Given the description of an element on the screen output the (x, y) to click on. 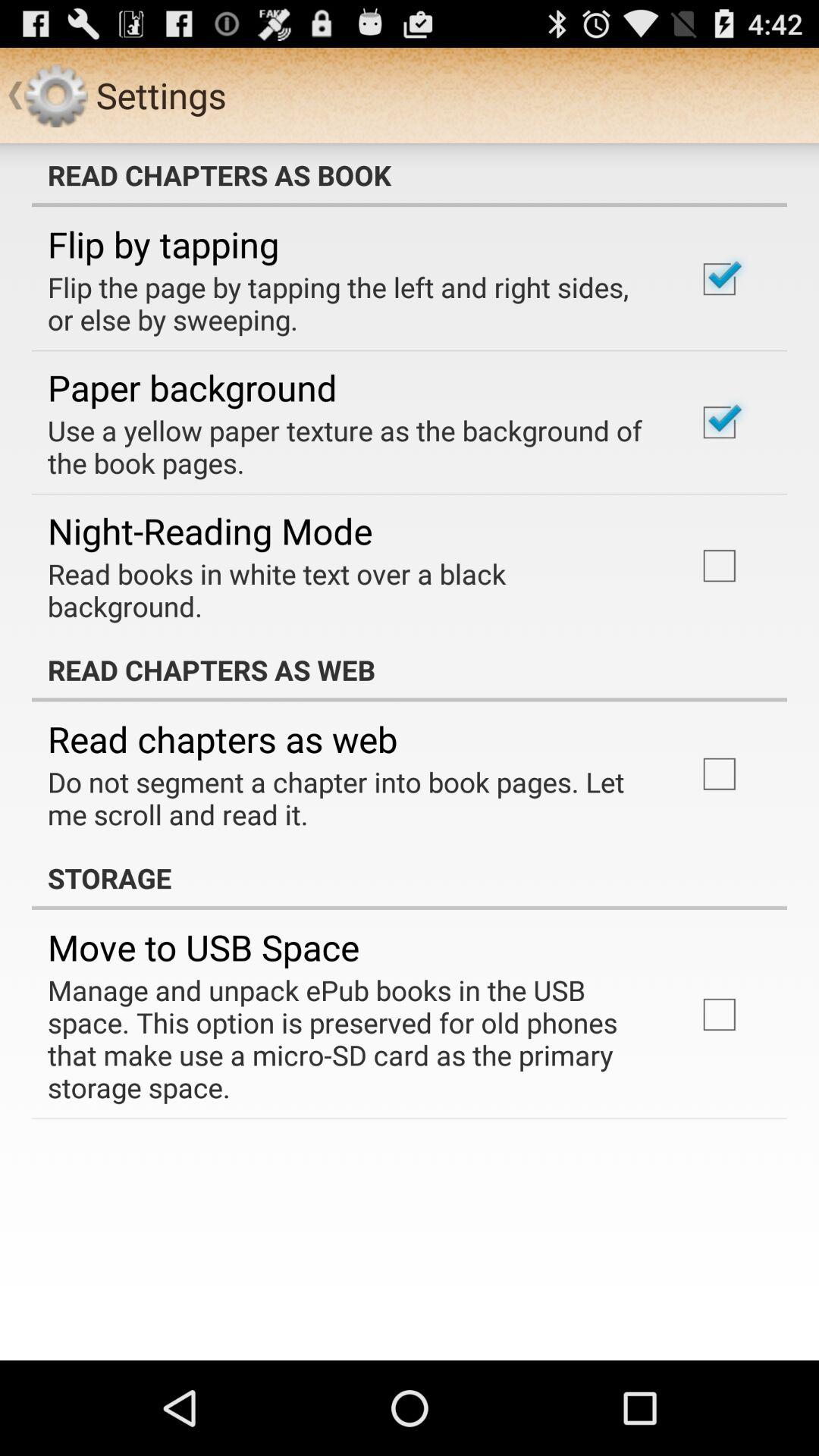
flip to the do not segment item (351, 798)
